Given the description of an element on the screen output the (x, y) to click on. 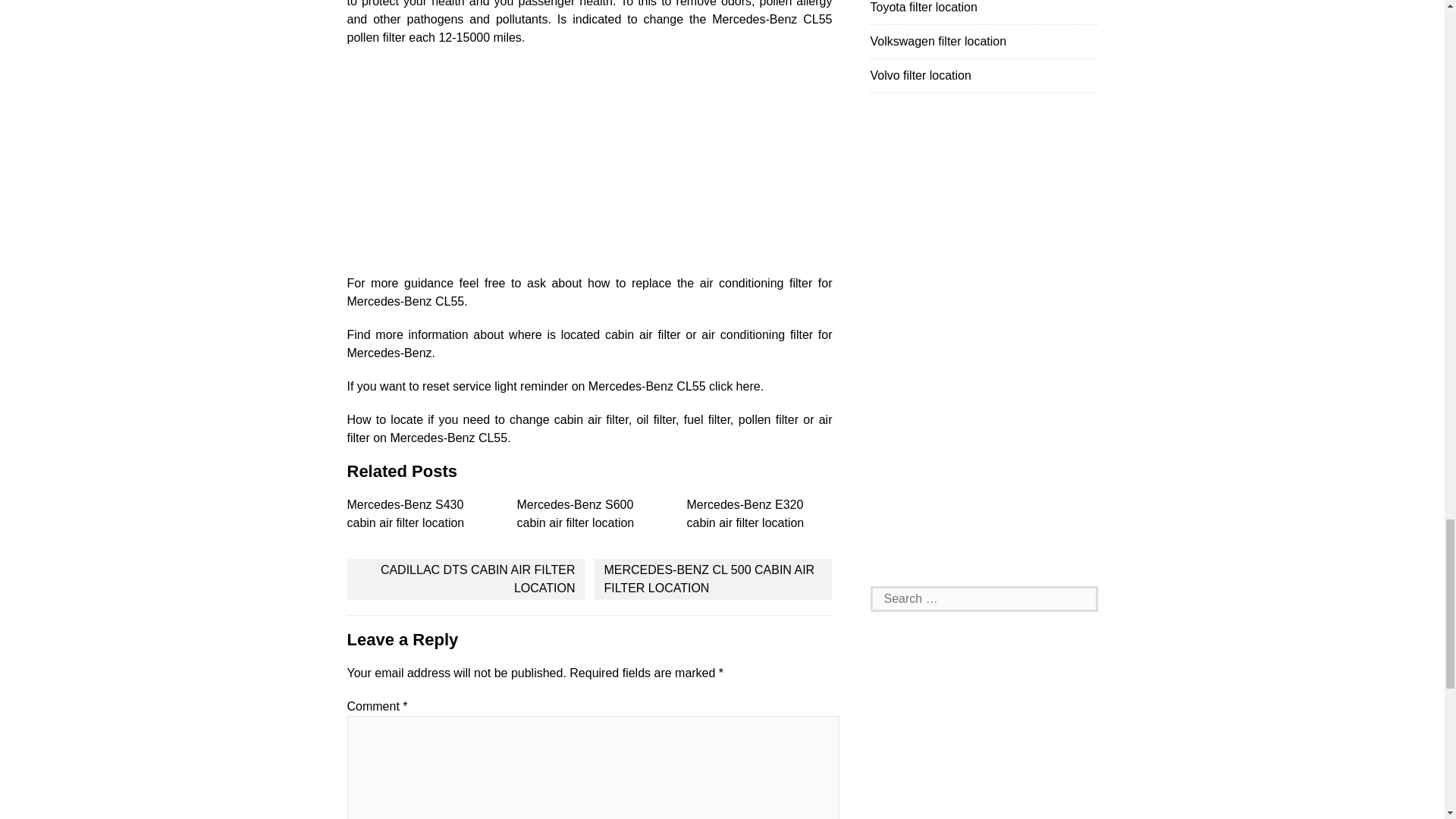
Advertisement (589, 168)
Advertisement (983, 350)
Mercedes-Benz S430 cabin air filter location (405, 513)
How to reset Mercedes Benz CL55 oil service light (555, 386)
Locate MERCEDES-BENZ filters (589, 343)
